Given the description of an element on the screen output the (x, y) to click on. 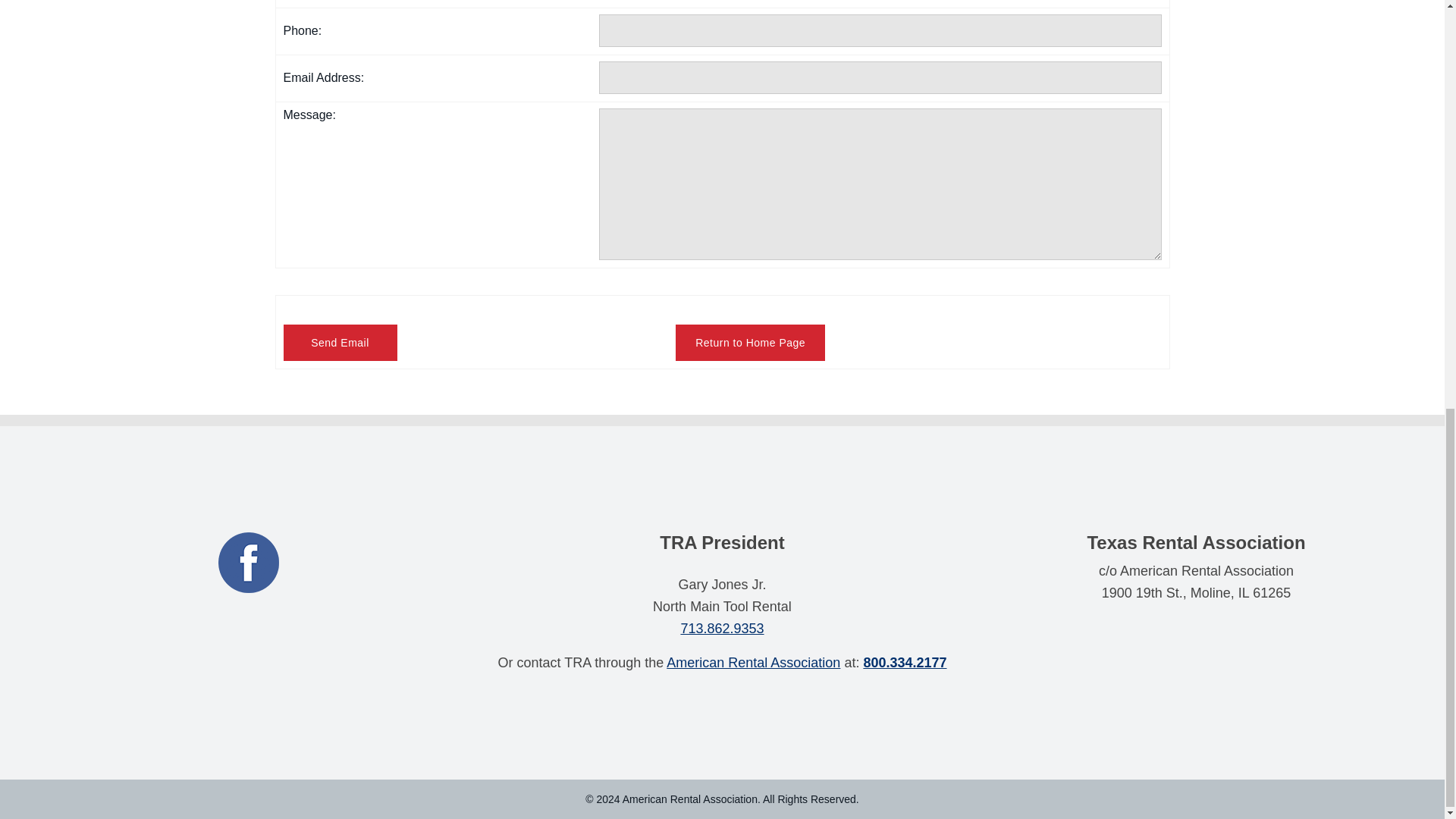
713.862.9353 (720, 628)
Send Email (340, 342)
Send Email (340, 342)
Return to Home Page (750, 342)
American Rental Association (753, 662)
800.334.2177 (904, 662)
Return to Home Page (750, 342)
